Given the description of an element on the screen output the (x, y) to click on. 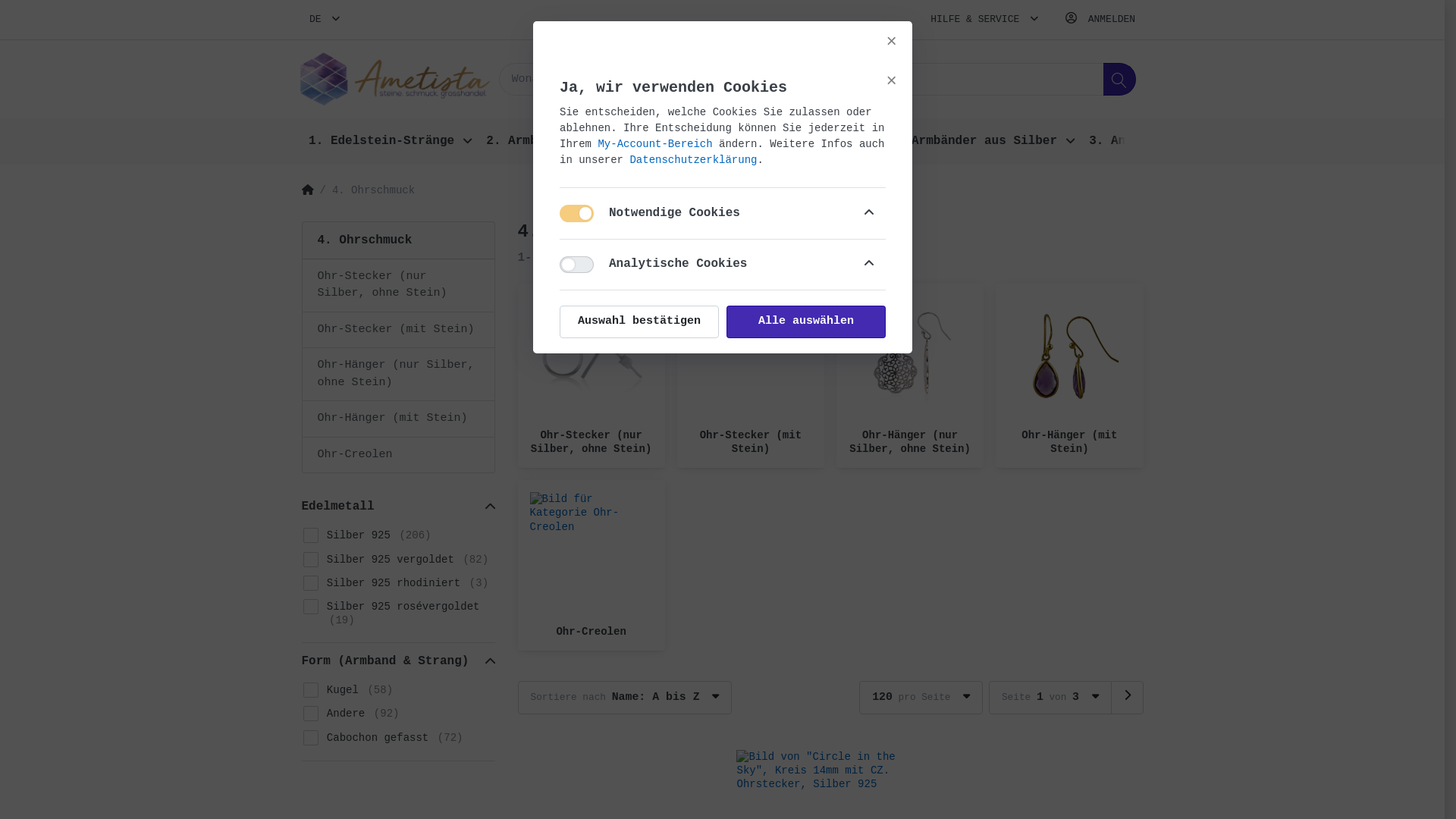
Edelmetall Element type: text (398, 506)
My-Account-Bereich Element type: text (654, 144)
120 pro Seite Element type: text (920, 697)
Ohr-Stecker (mit Stein) Element type: text (398, 329)
www.ametista.ch Element type: hover (394, 79)
DE Element type: text (324, 19)
Ohr-Creolen Element type: text (398, 454)
Ohr-Creolen Element type: text (590, 631)
ANMELDEN Element type: text (1100, 19)
Seite 2 Element type: hover (1126, 697)
Ohr-Stecker (mit Stein) Element type: text (750, 442)
Ohr-Stecker (nur Silber, ohne Stein) Element type: text (591, 442)
Seite 1 von 3 Element type: text (1049, 697)
Form (Armband & Strang) Element type: text (398, 661)
HILFE & SERVICE Element type: text (983, 19)
Home Element type: hover (307, 190)
Sortiere nach Name: A bis Z Element type: text (624, 697)
Suchen Element type: hover (1119, 78)
Ohr-Stecker (nur Silber, ohne Stein) Element type: text (398, 285)
